Given the description of an element on the screen output the (x, y) to click on. 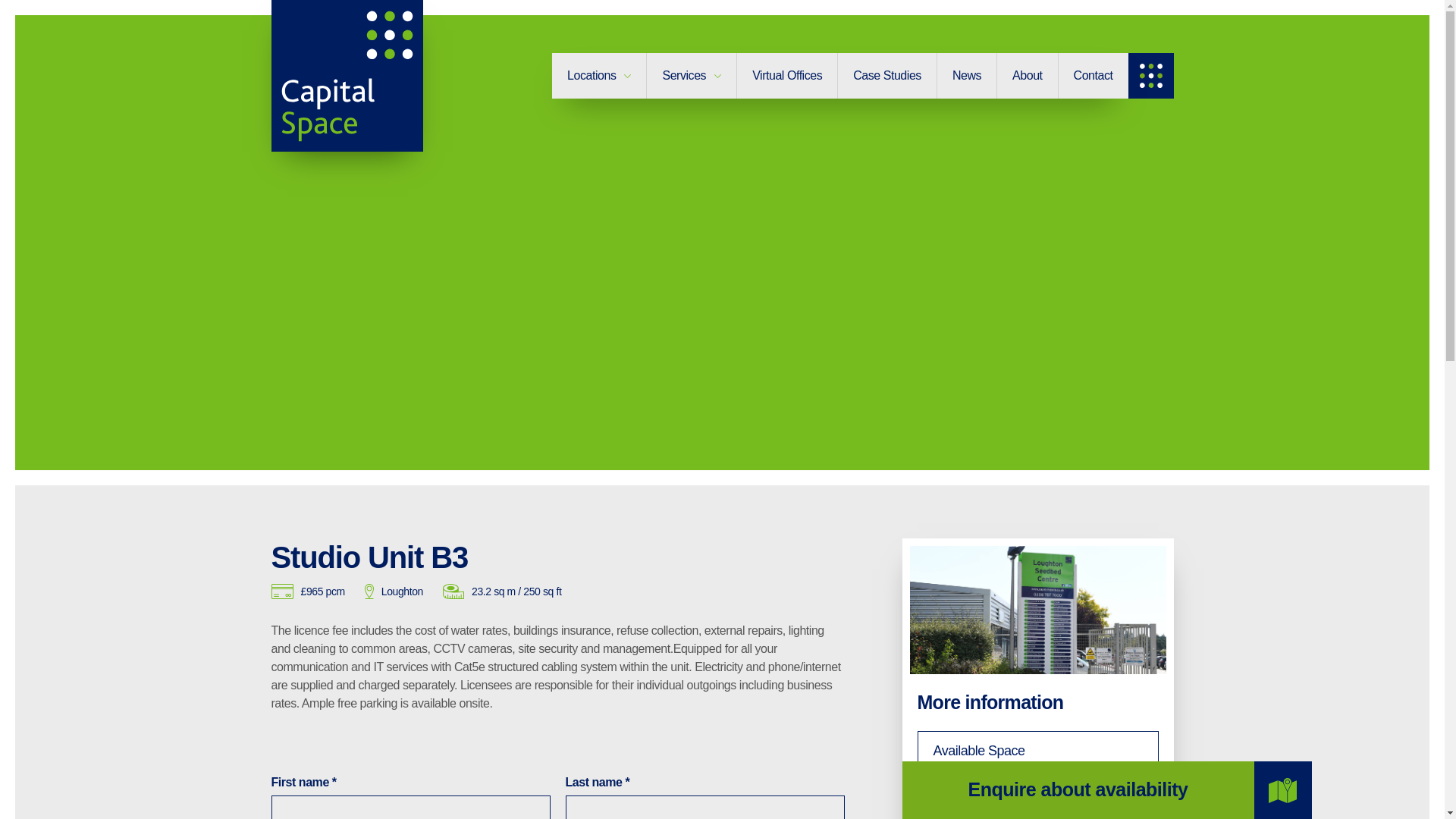
Services (691, 75)
Meeting Rooms (1037, 797)
Available Space (1037, 750)
News (967, 75)
Locations (598, 75)
Capital Space (346, 75)
Case Studies (887, 75)
About (1027, 75)
Contact (1093, 75)
Virtual Offices (787, 75)
